Given the description of an element on the screen output the (x, y) to click on. 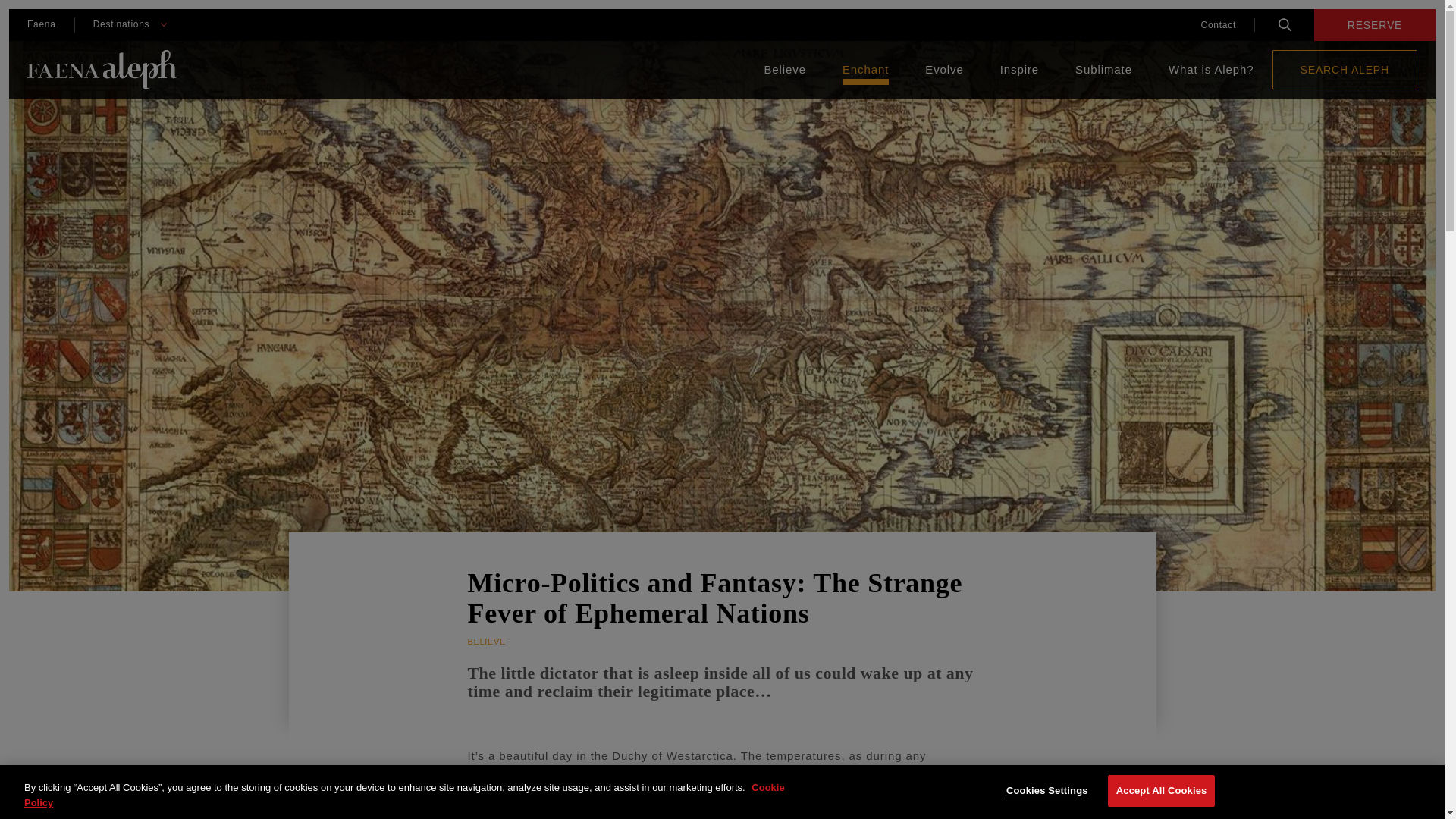
Believe (784, 69)
Inspire (1019, 69)
Faena (41, 23)
Enchant (865, 69)
Contact (1217, 24)
Destinations (121, 23)
What is Aleph? (1211, 69)
Sublimate (1103, 69)
Search (1284, 24)
SEARCH ALEPH (1344, 69)
Evolve (943, 69)
